Given the description of an element on the screen output the (x, y) to click on. 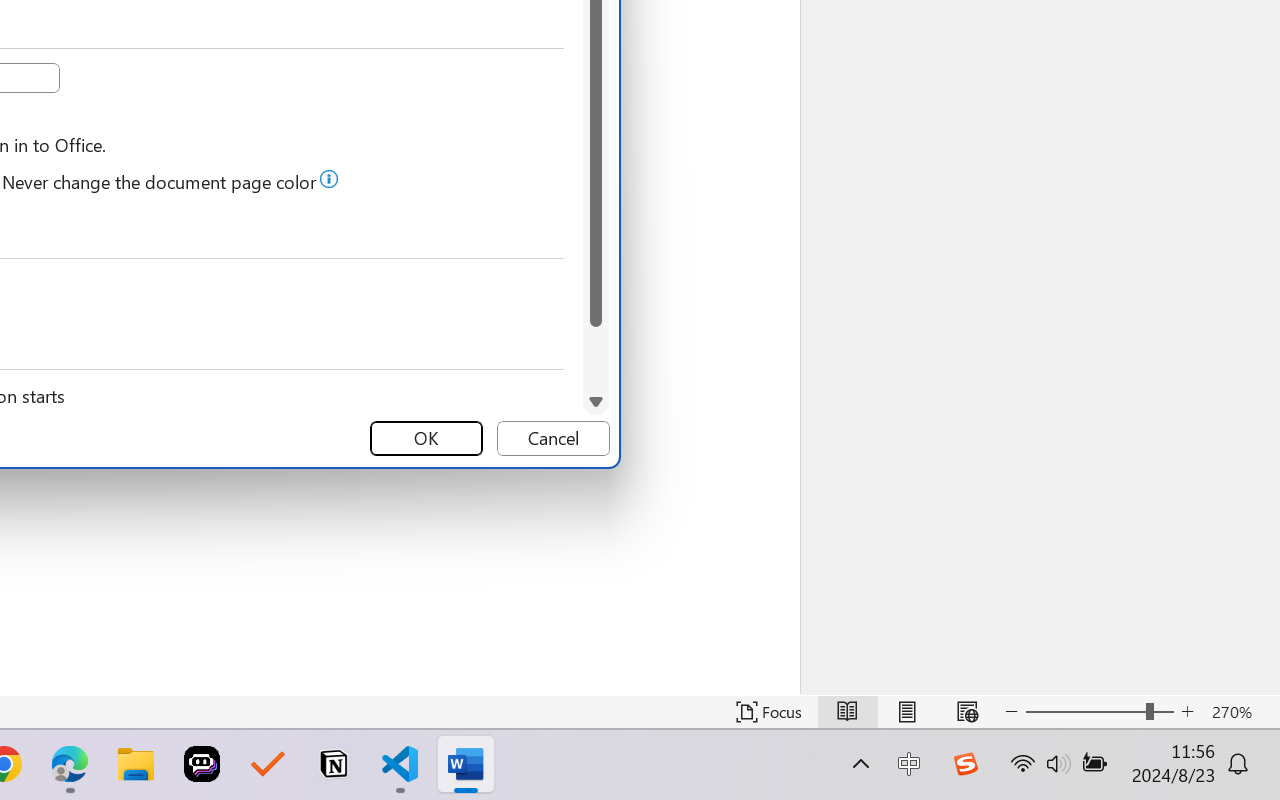
Cancel (553, 437)
Increase Text Size (1187, 712)
Page down (595, 357)
